Given the description of an element on the screen output the (x, y) to click on. 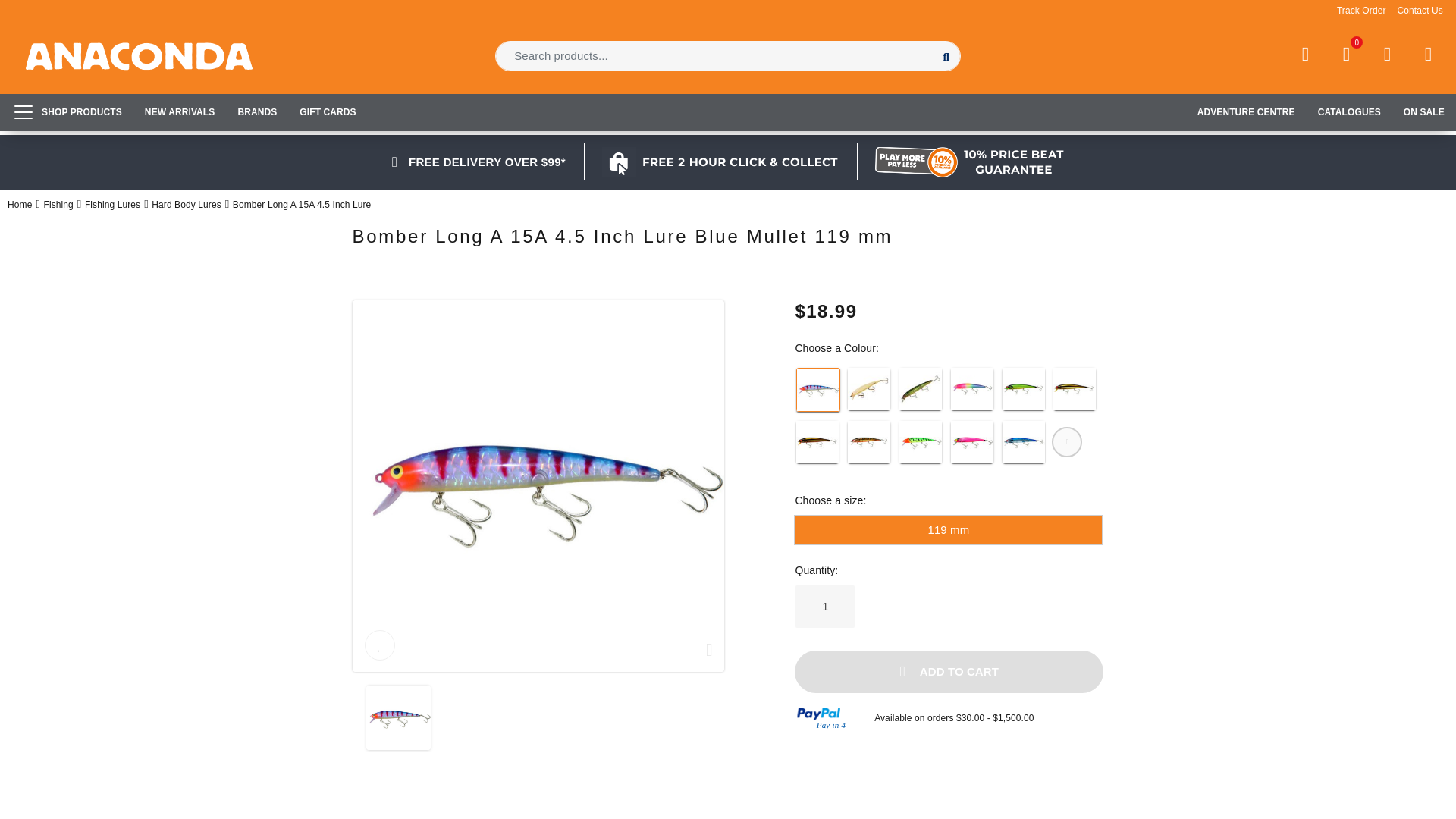
Contact Us (1419, 9)
0 (1345, 54)
Anaconda (139, 56)
1 (825, 606)
Search for a product or brand (727, 55)
Contact Us (1419, 9)
SHOP PRODUCTS (66, 110)
SHOP PRODUCTS (66, 110)
Track Order (1361, 9)
